Given the description of an element on the screen output the (x, y) to click on. 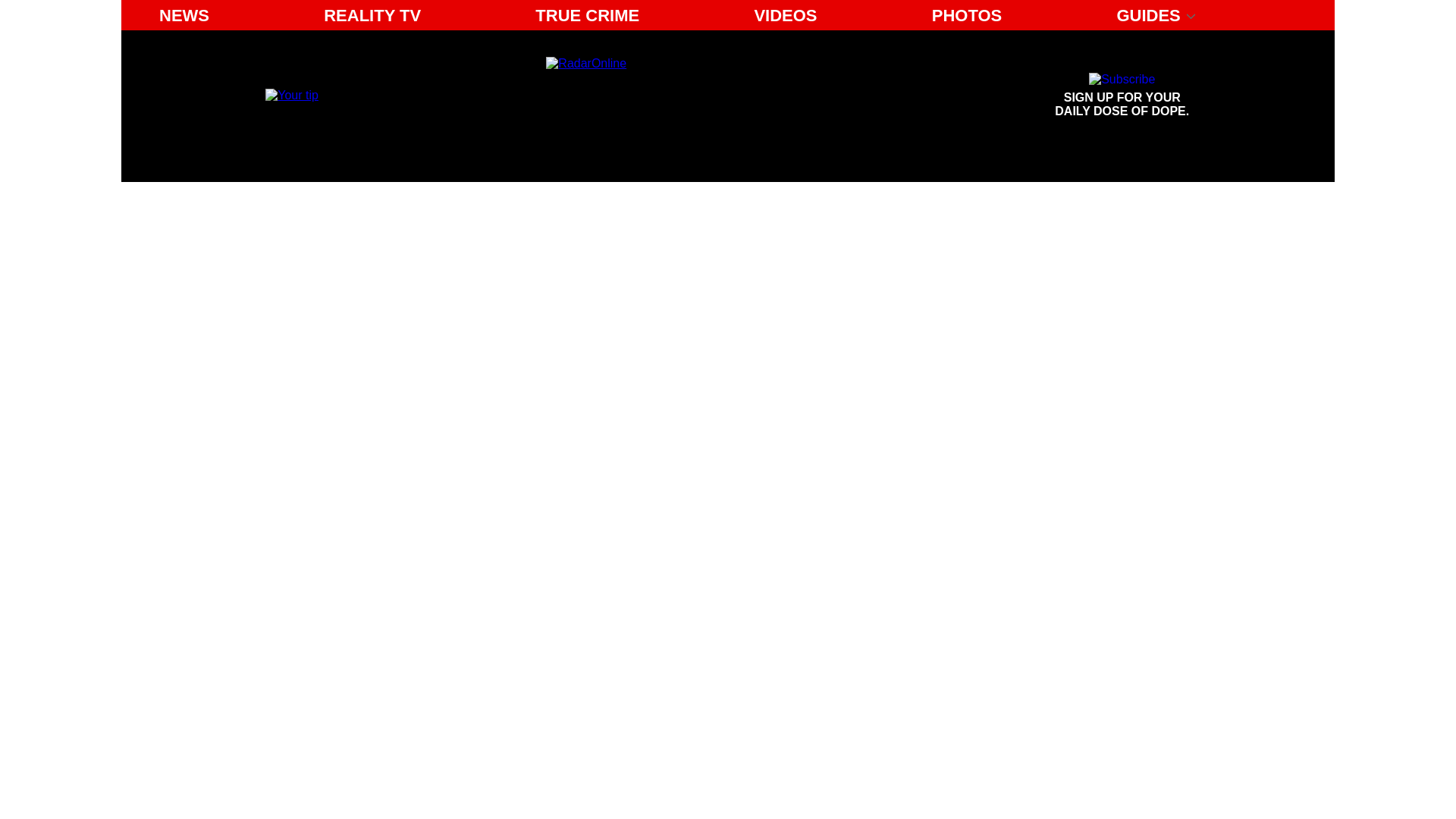
Email us your tip (291, 94)
Sign up for your daily dose of dope. (1122, 94)
VIDEOS (784, 15)
TRUE CRIME (586, 15)
REALITY TV (371, 15)
PHOTOS (967, 15)
Radar Online (685, 95)
NEWS (183, 15)
